Given the description of an element on the screen output the (x, y) to click on. 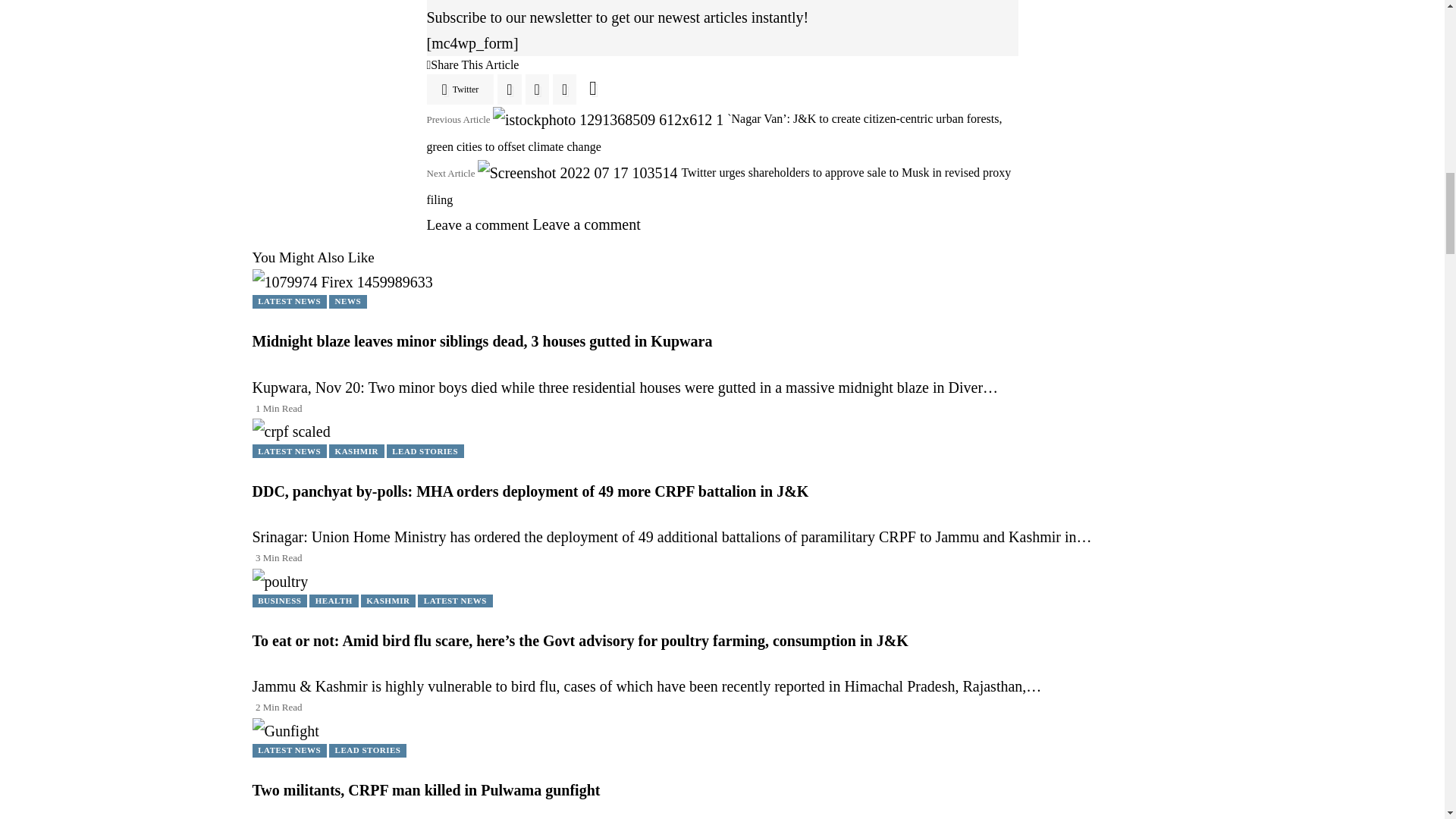
Two militants, CRPF man killed in Pulwama gunfight (284, 728)
